Given the description of an element on the screen output the (x, y) to click on. 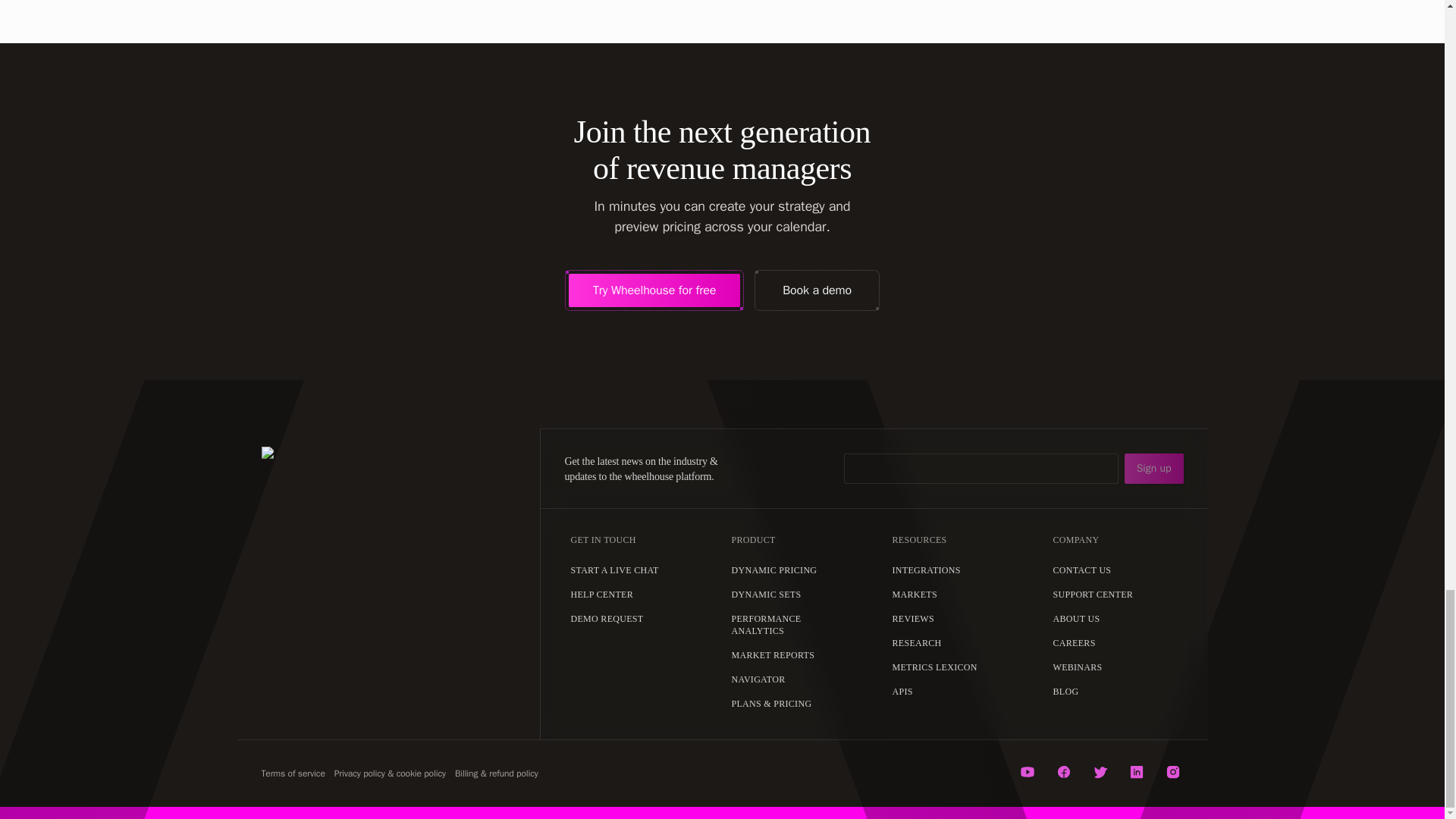
DYNAMIC PRICING (773, 569)
DEMO REQUEST (606, 617)
RESEARCH (916, 641)
HELP CENTER (601, 593)
Try Wheelhouse for free (654, 290)
START A LIVE CHAT (613, 569)
INTEGRATIONS (925, 569)
REVIEWS (912, 617)
MARKET REPORTS (773, 654)
MARKETS (913, 593)
PERFORMANCE ANALYTICS (793, 624)
DYNAMIC SETS (765, 593)
Book a demo (817, 290)
METRICS LEXICON (933, 666)
Sign up (1153, 468)
